Given the description of an element on the screen output the (x, y) to click on. 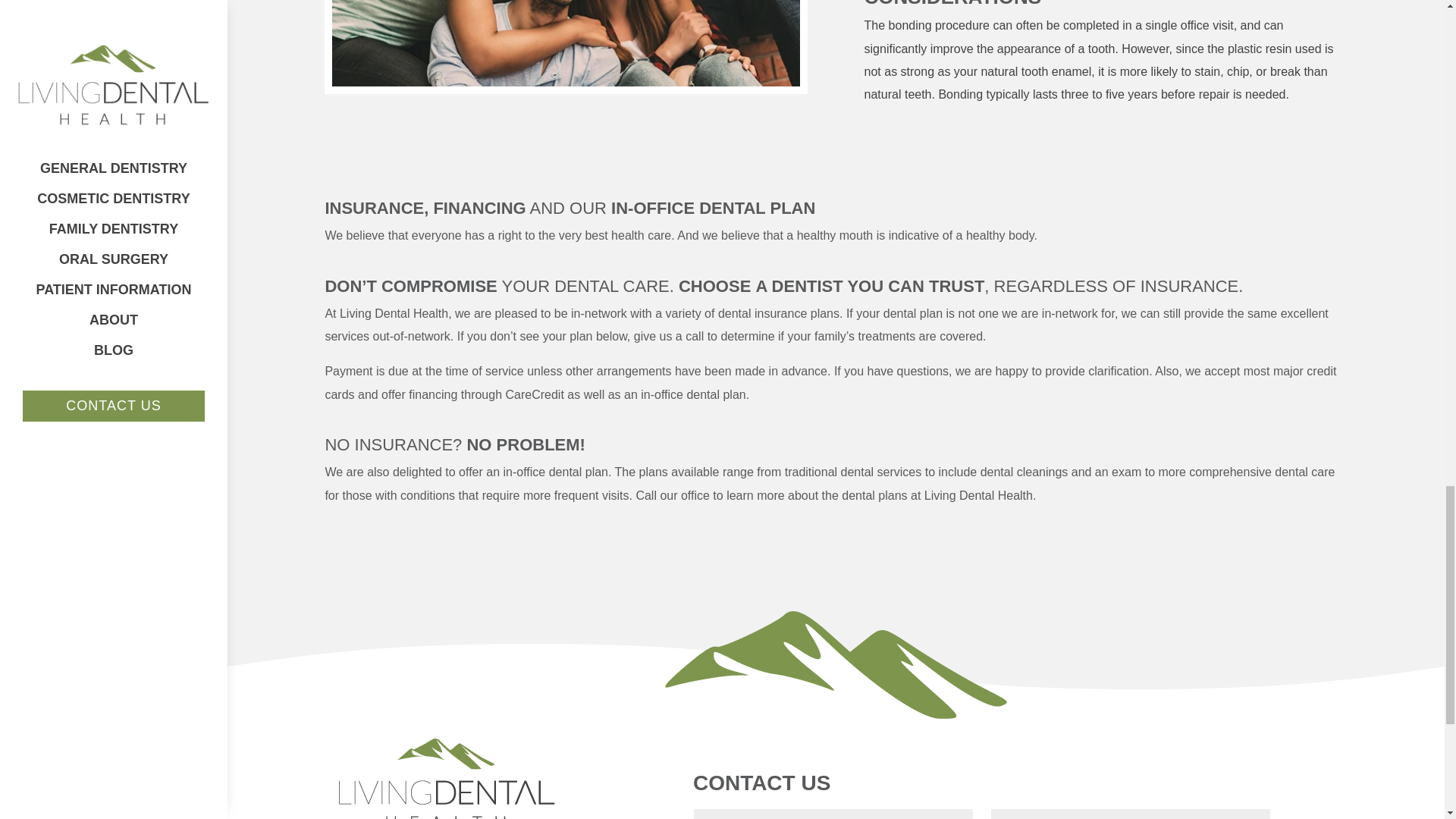
LivingDentalMountains-withSnow (836, 664)
logo (446, 771)
cosmetic-2-web (565, 43)
